Given the description of an element on the screen output the (x, y) to click on. 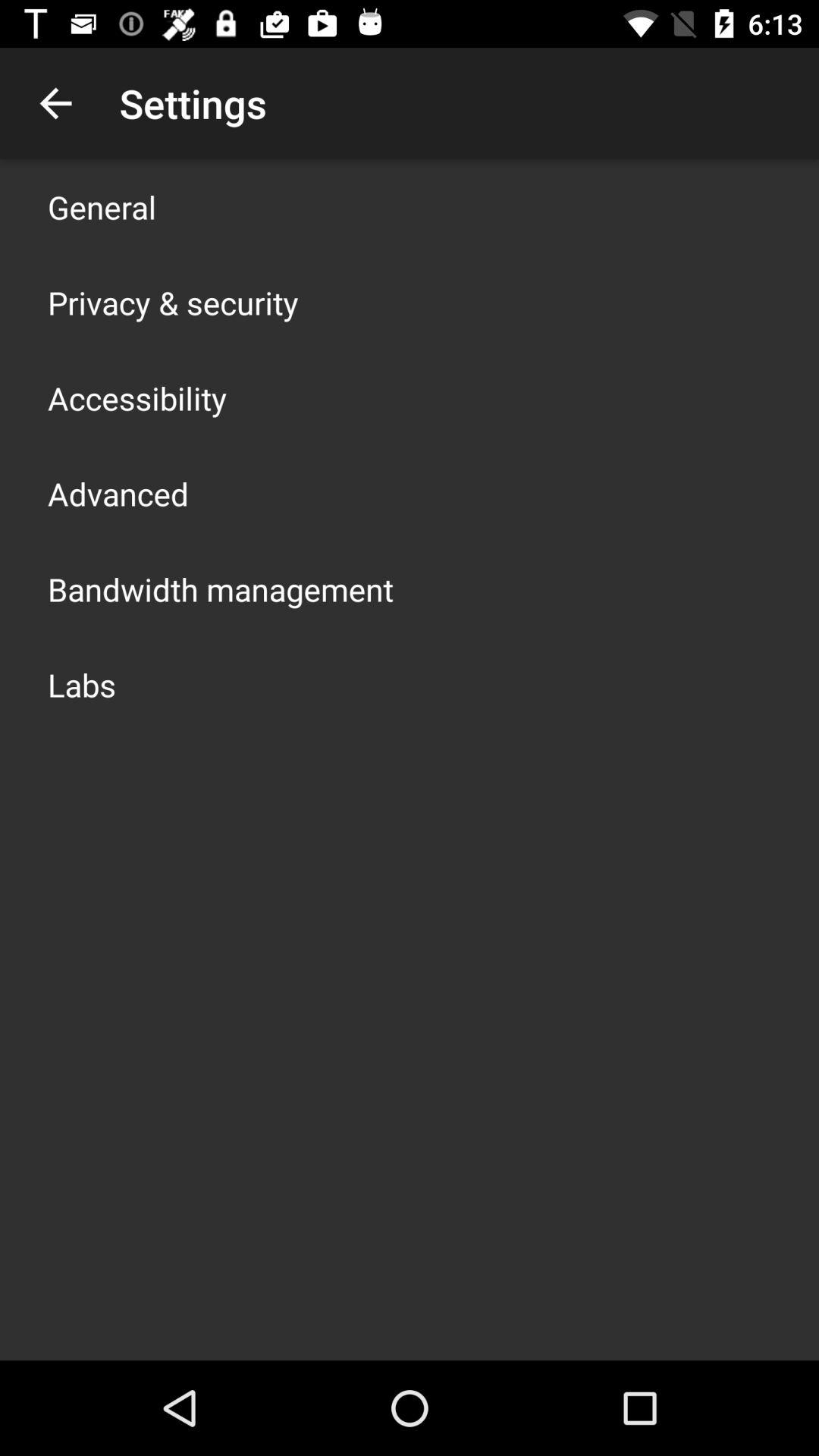
turn off the icon above the advanced item (136, 397)
